Given the description of an element on the screen output the (x, y) to click on. 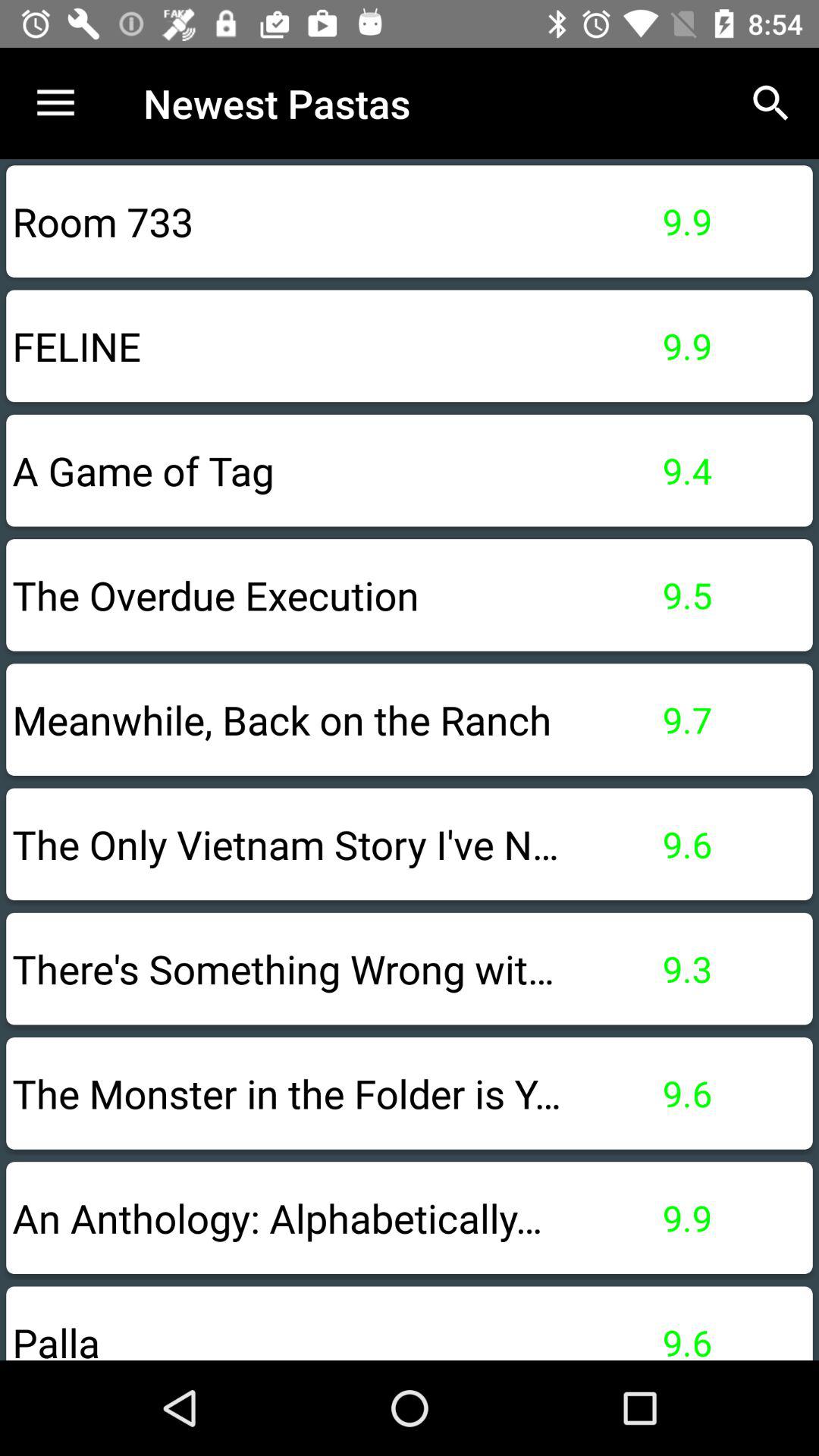
click icon at the top left corner (55, 103)
